Given the description of an element on the screen output the (x, y) to click on. 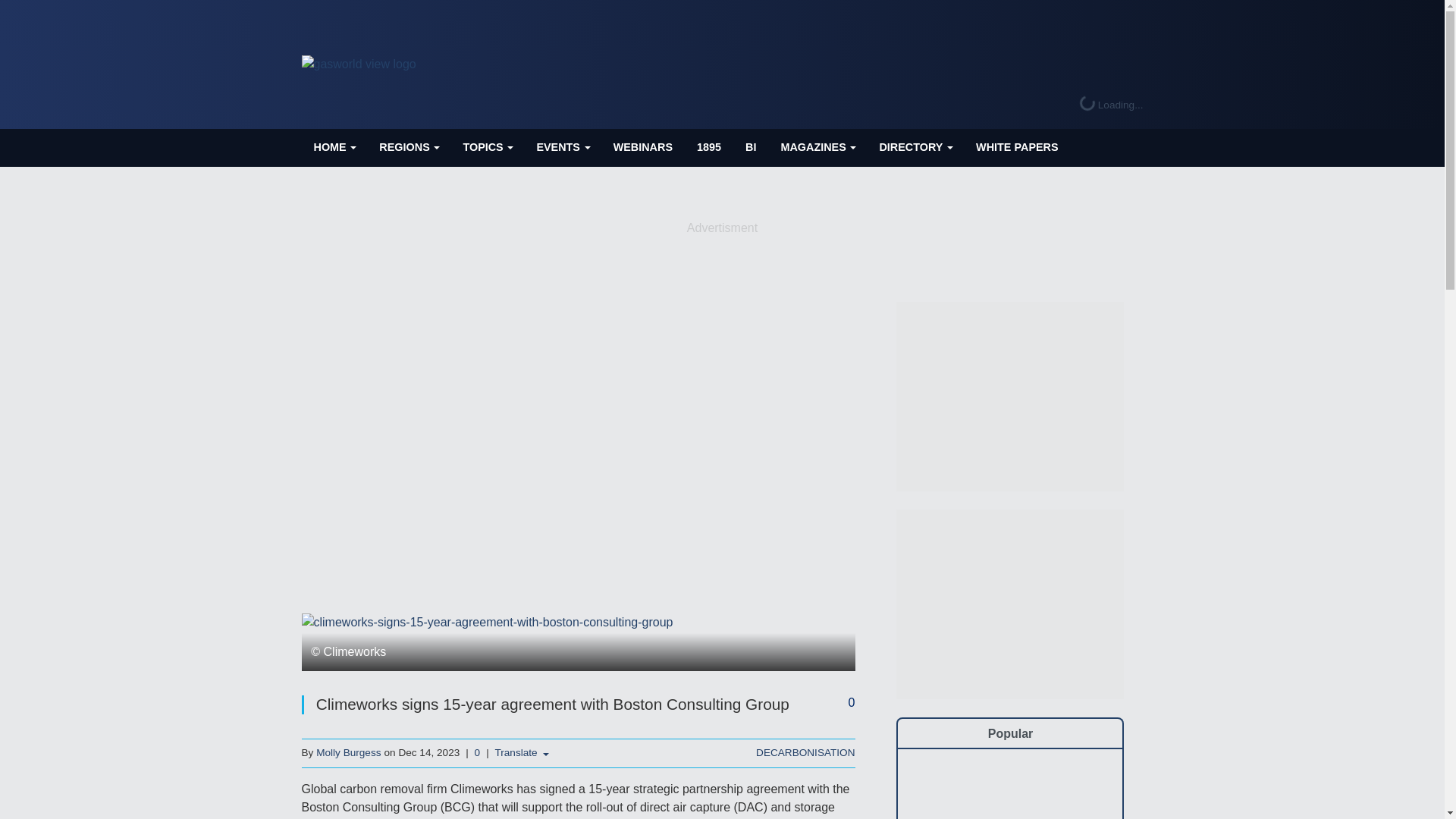
TOPICS (486, 146)
REGIONS (407, 146)
Home (334, 146)
HOME (334, 146)
gasworld (358, 63)
Regions (407, 146)
Topics (486, 146)
